Given the description of an element on the screen output the (x, y) to click on. 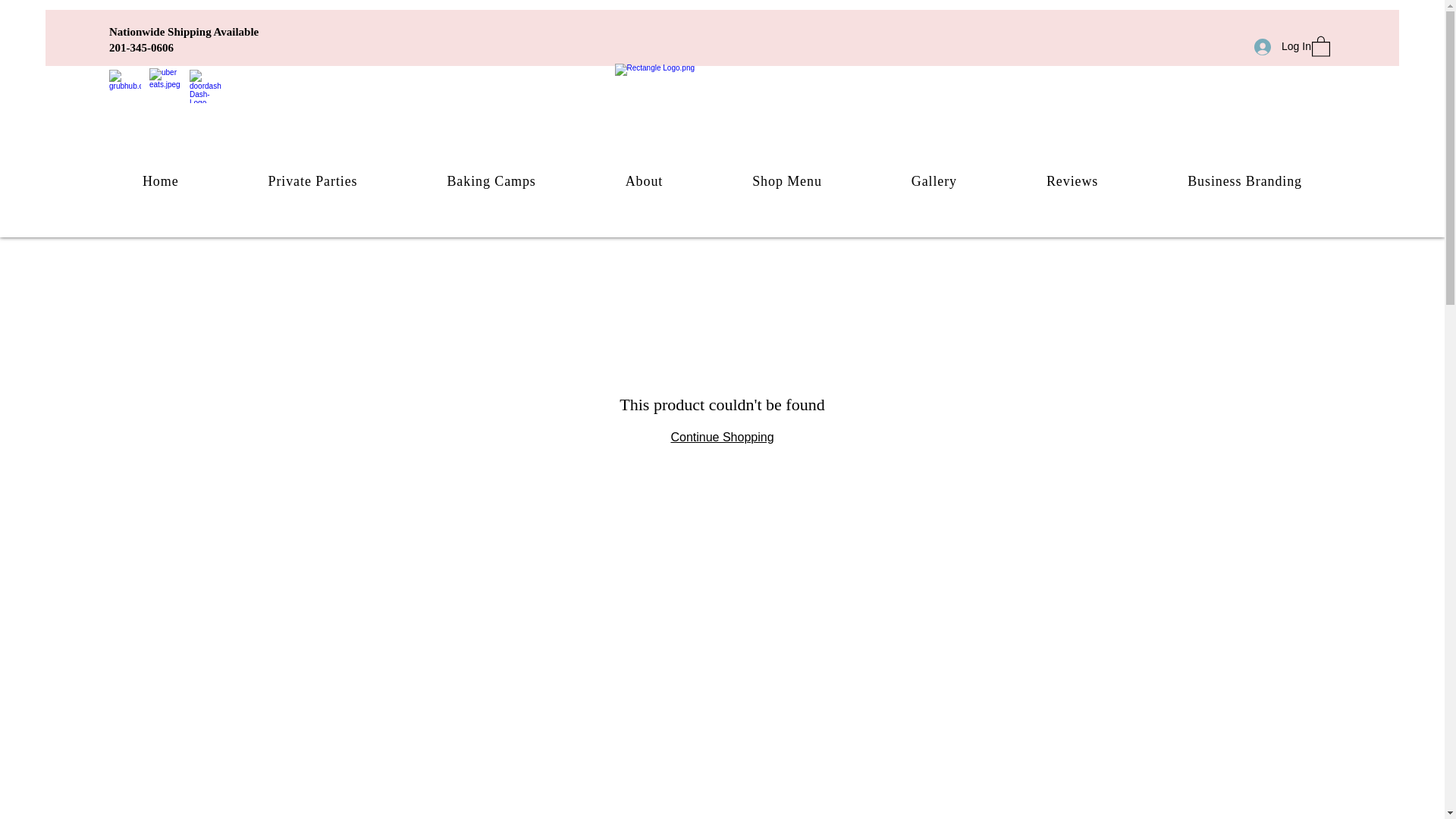
Shop Menu (786, 181)
Gallery (933, 181)
About (643, 181)
Baking Camps (490, 181)
Home (160, 181)
Continue Shopping (721, 436)
Private Parties (313, 181)
Log In (1277, 46)
Reviews (1071, 181)
Business Branding (1244, 181)
